Given the description of an element on the screen output the (x, y) to click on. 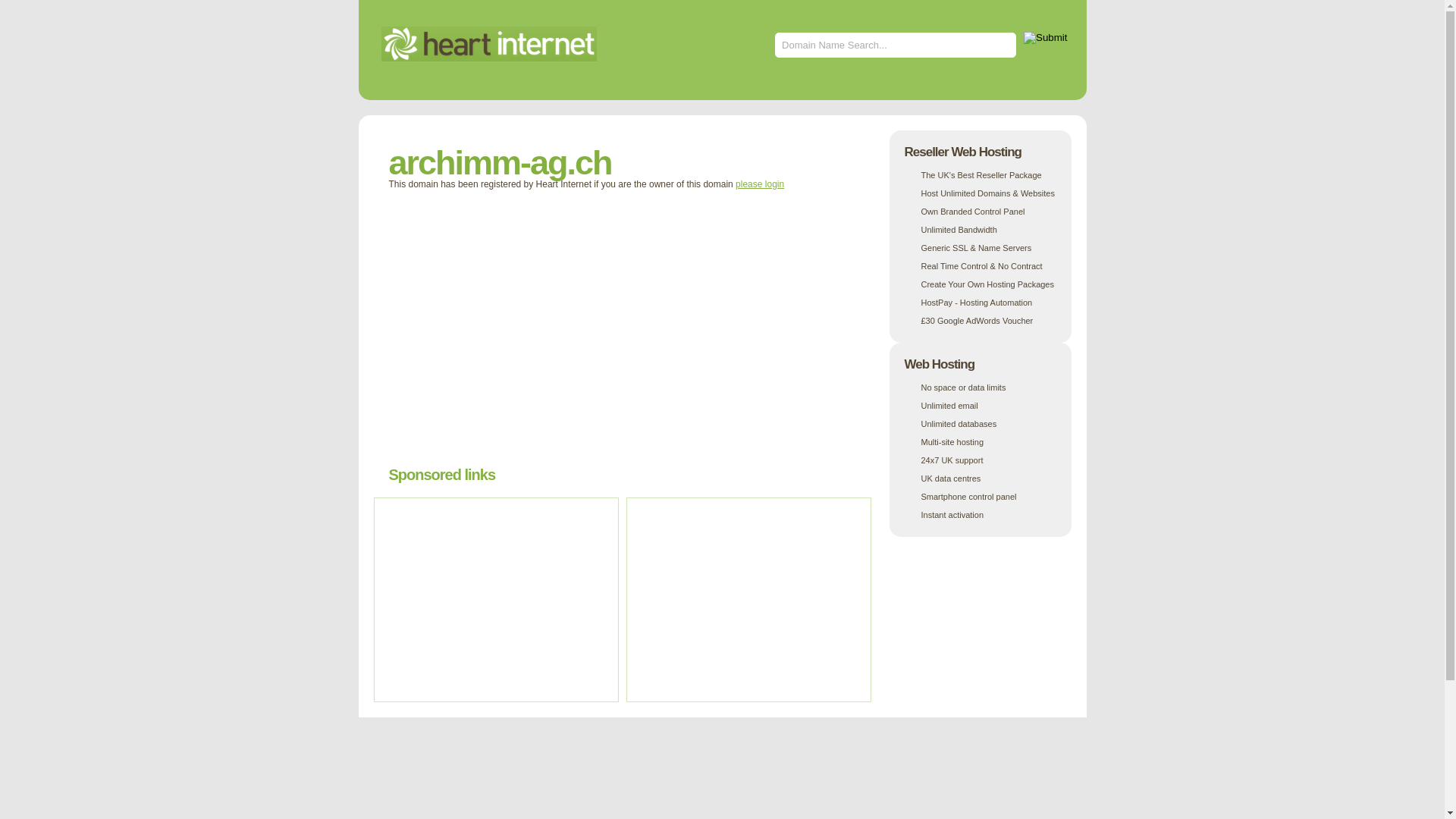
please login Element type: text (759, 183)
Domain Name Search... Element type: text (895, 44)
